Given the description of an element on the screen output the (x, y) to click on. 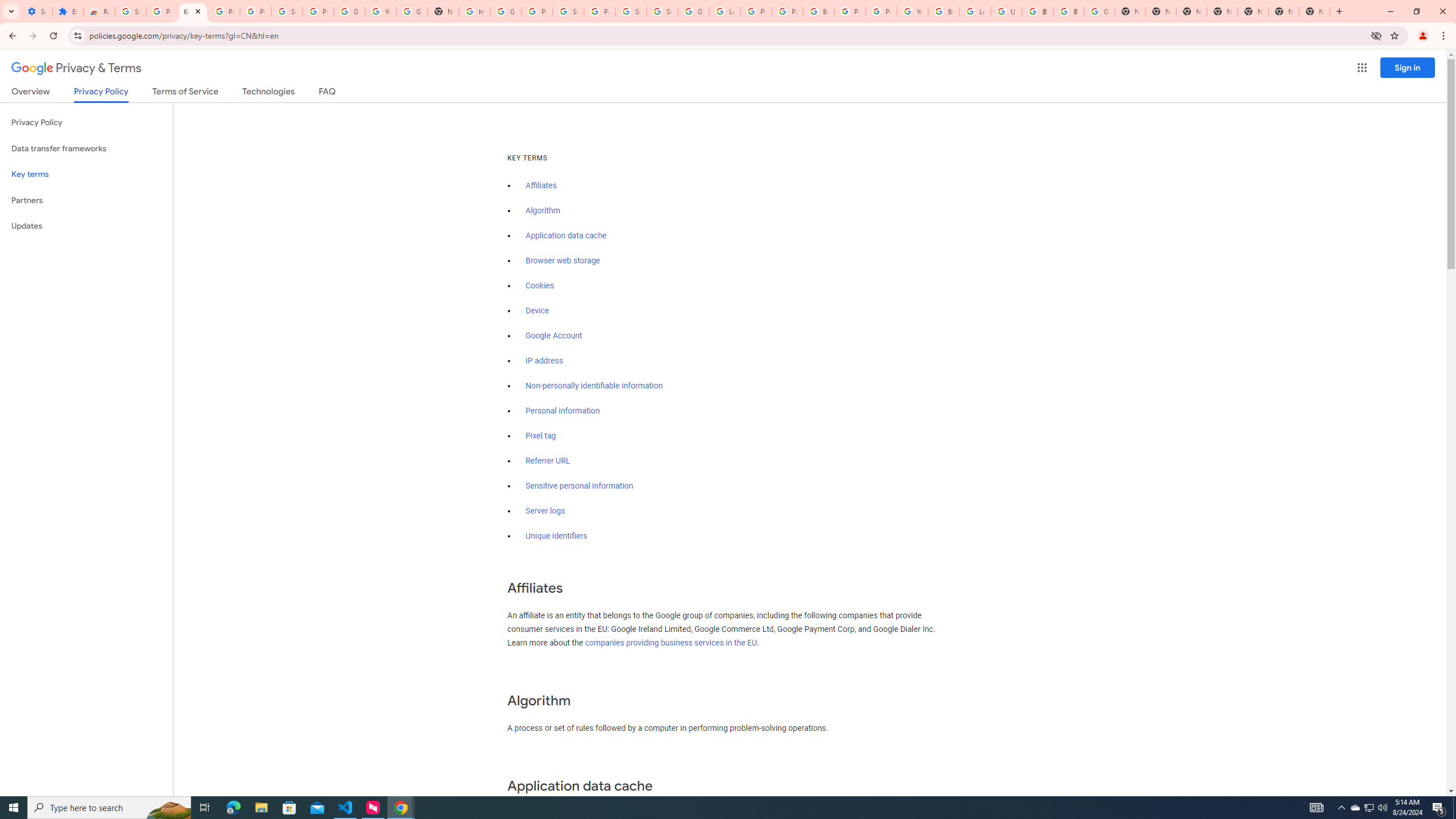
Sign in - Google Accounts (130, 11)
Pixel tag (540, 435)
Affiliates (540, 185)
Unique identifiers (556, 536)
Sensitive personal information (579, 486)
New Tab (1314, 11)
Sign in - Google Accounts (286, 11)
